Given the description of an element on the screen output the (x, y) to click on. 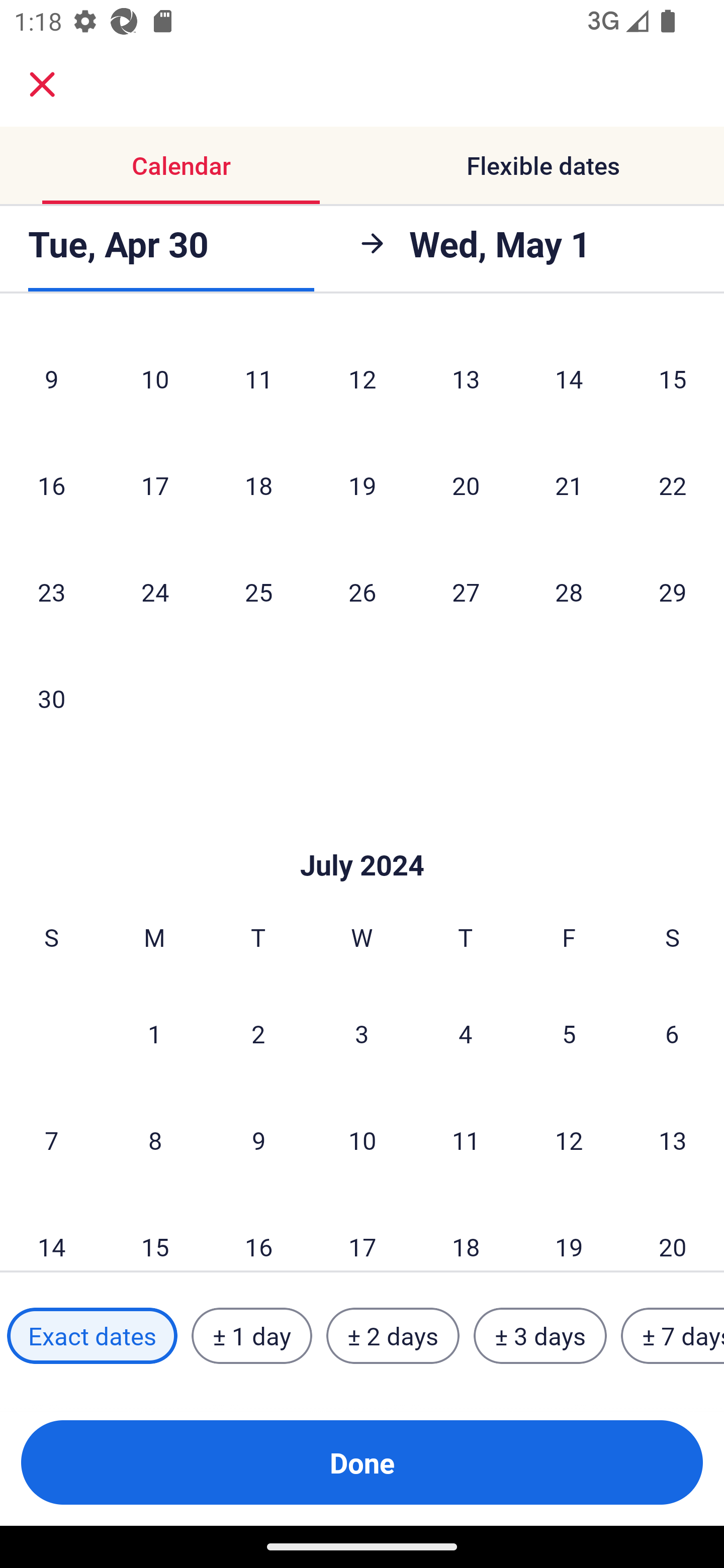
close. (42, 84)
Flexible dates (542, 164)
9 Sunday, June 9, 2024 (51, 378)
10 Monday, June 10, 2024 (155, 378)
11 Tuesday, June 11, 2024 (258, 378)
12 Wednesday, June 12, 2024 (362, 378)
13 Thursday, June 13, 2024 (465, 378)
14 Friday, June 14, 2024 (569, 378)
15 Saturday, June 15, 2024 (672, 378)
16 Sunday, June 16, 2024 (51, 485)
17 Monday, June 17, 2024 (155, 485)
18 Tuesday, June 18, 2024 (258, 485)
19 Wednesday, June 19, 2024 (362, 485)
20 Thursday, June 20, 2024 (465, 485)
21 Friday, June 21, 2024 (569, 485)
22 Saturday, June 22, 2024 (672, 485)
23 Sunday, June 23, 2024 (51, 591)
24 Monday, June 24, 2024 (155, 591)
25 Tuesday, June 25, 2024 (258, 591)
26 Wednesday, June 26, 2024 (362, 591)
27 Thursday, June 27, 2024 (465, 591)
28 Friday, June 28, 2024 (569, 591)
29 Saturday, June 29, 2024 (672, 591)
30 Sunday, June 30, 2024 (51, 697)
Skip to Done (362, 835)
1 Monday, July 1, 2024 (154, 1033)
2 Tuesday, July 2, 2024 (257, 1033)
3 Wednesday, July 3, 2024 (361, 1033)
4 Thursday, July 4, 2024 (465, 1033)
5 Friday, July 5, 2024 (568, 1033)
6 Saturday, July 6, 2024 (672, 1033)
7 Sunday, July 7, 2024 (51, 1139)
8 Monday, July 8, 2024 (155, 1139)
9 Tuesday, July 9, 2024 (258, 1139)
10 Wednesday, July 10, 2024 (362, 1139)
11 Thursday, July 11, 2024 (465, 1139)
12 Friday, July 12, 2024 (569, 1139)
13 Saturday, July 13, 2024 (672, 1139)
14 Sunday, July 14, 2024 (51, 1232)
15 Monday, July 15, 2024 (155, 1232)
16 Tuesday, July 16, 2024 (258, 1232)
17 Wednesday, July 17, 2024 (362, 1232)
18 Thursday, July 18, 2024 (465, 1232)
19 Friday, July 19, 2024 (569, 1232)
20 Saturday, July 20, 2024 (672, 1232)
Exact dates (92, 1335)
± 1 day (251, 1335)
± 2 days (392, 1335)
± 3 days (539, 1335)
± 7 days (672, 1335)
Done (361, 1462)
